Given the description of an element on the screen output the (x, y) to click on. 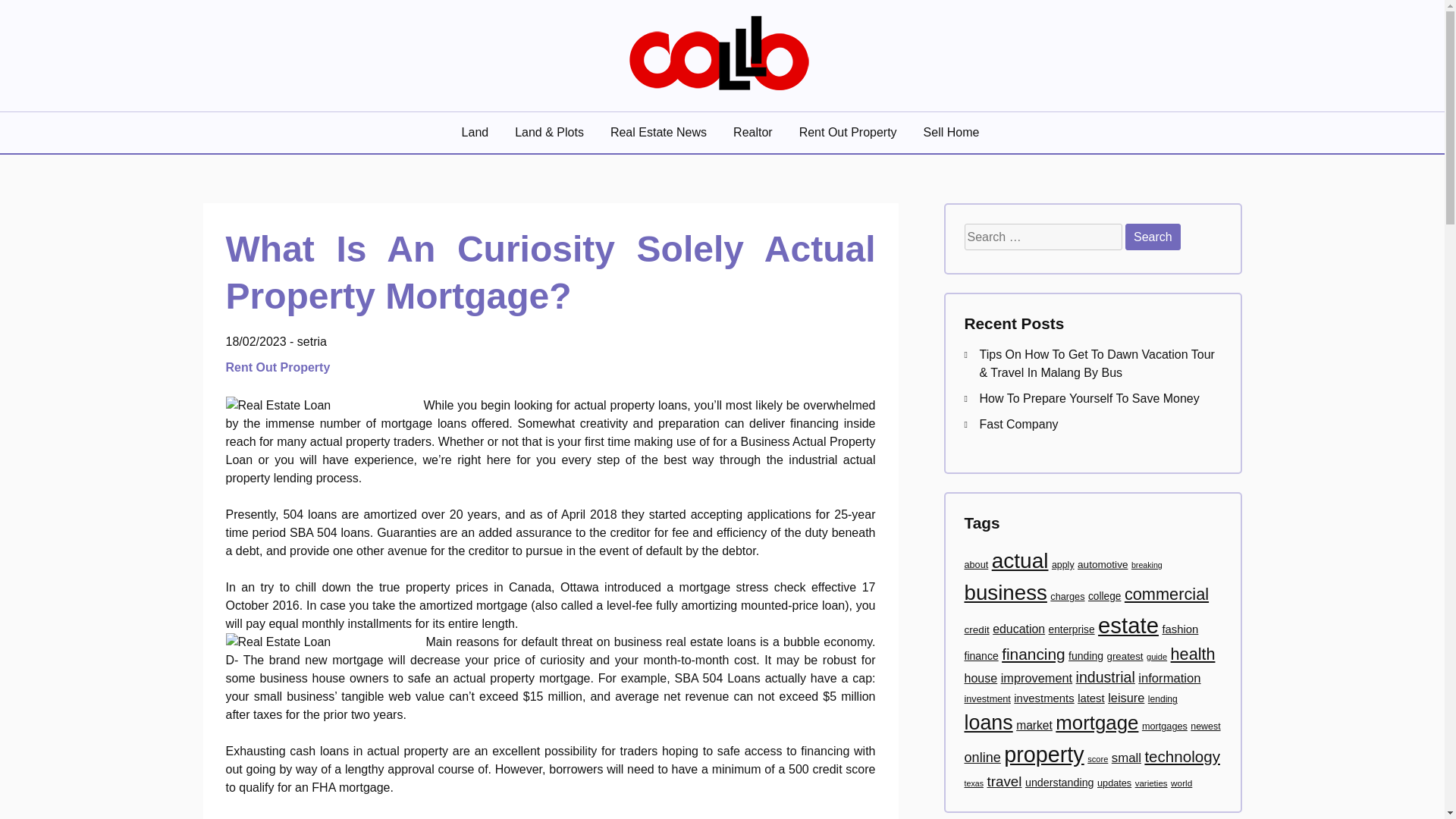
Real Estate News (660, 132)
Realtor (754, 132)
credit (976, 629)
breaking (1146, 564)
CP (228, 114)
charges (1066, 596)
Fast Company (1018, 423)
about (975, 564)
Rent Out Property (849, 132)
automotive (1101, 564)
commercial (1166, 593)
apply (1062, 564)
actual (1019, 560)
Search (1152, 236)
Search (1152, 236)
